Given the description of an element on the screen output the (x, y) to click on. 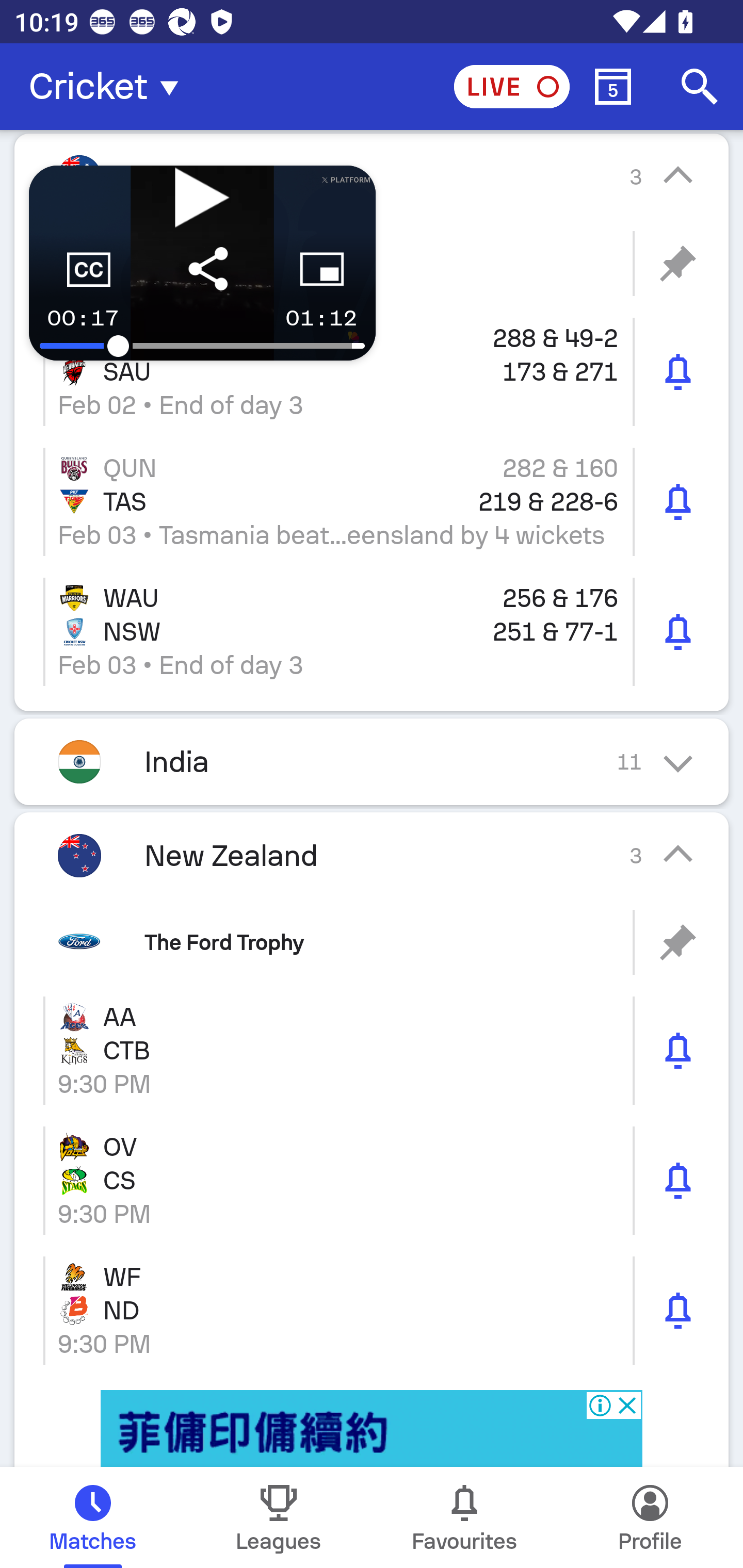
Cricket (109, 86)
Calendar (612, 86)
Search (699, 86)
WAU 256 & 176 NSW 251 & 77-1 Feb 03 • End of day 3 (371, 631)
India 11 (371, 761)
New Zealand 3 (371, 855)
The Ford Trophy (371, 942)
AA CTB 9:30 PM (371, 1051)
OV CS 9:30 PM (371, 1180)
WF ND 9:30 PM (371, 1309)
Leagues (278, 1517)
Favourites (464, 1517)
Profile (650, 1517)
